Given the description of an element on the screen output the (x, y) to click on. 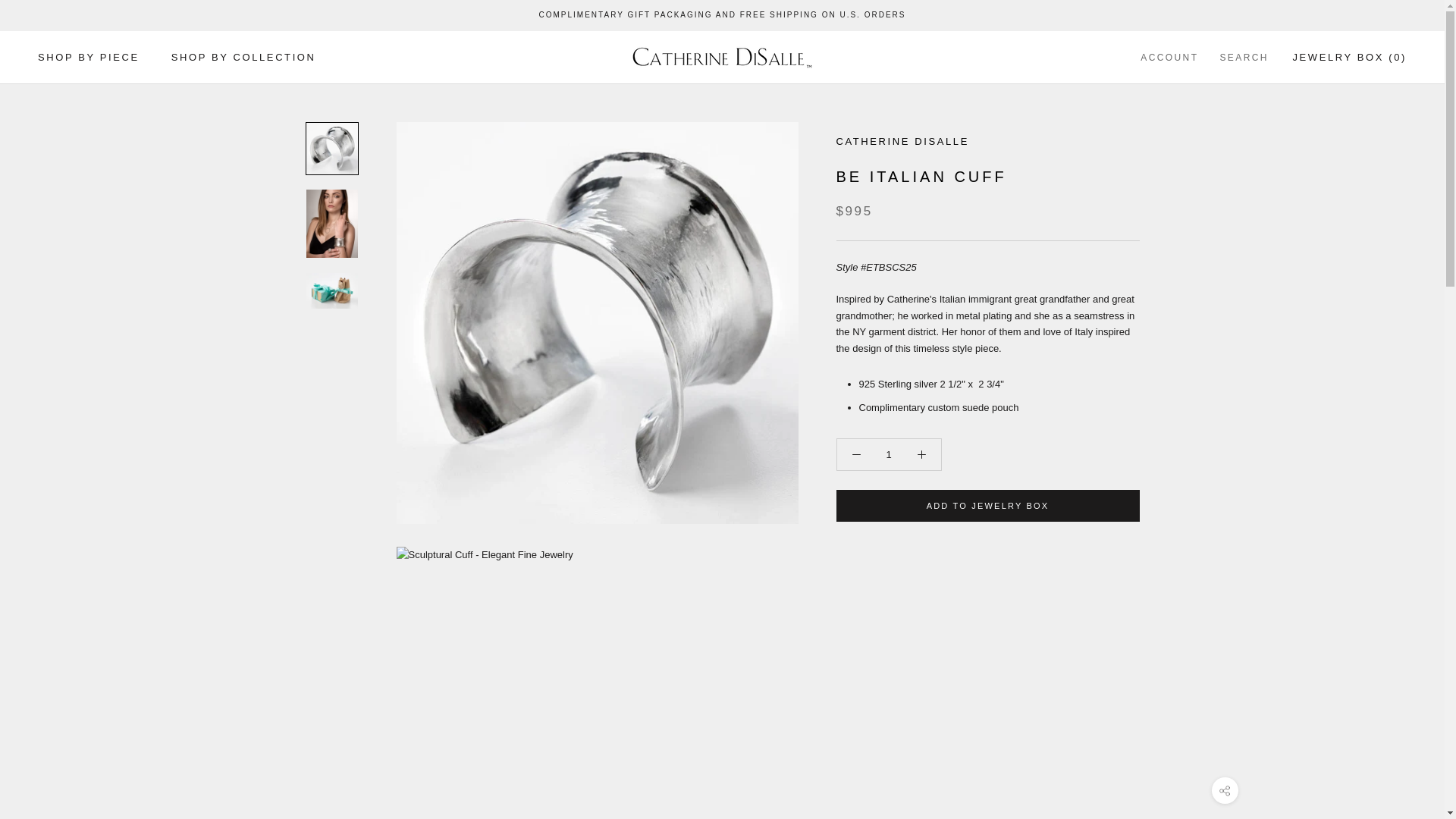
SEARCH (1244, 58)
1 (888, 454)
SHOP BY PIECE (88, 57)
ACCOUNT (1169, 58)
SHOP BY COLLECTION (243, 57)
